Given the description of an element on the screen output the (x, y) to click on. 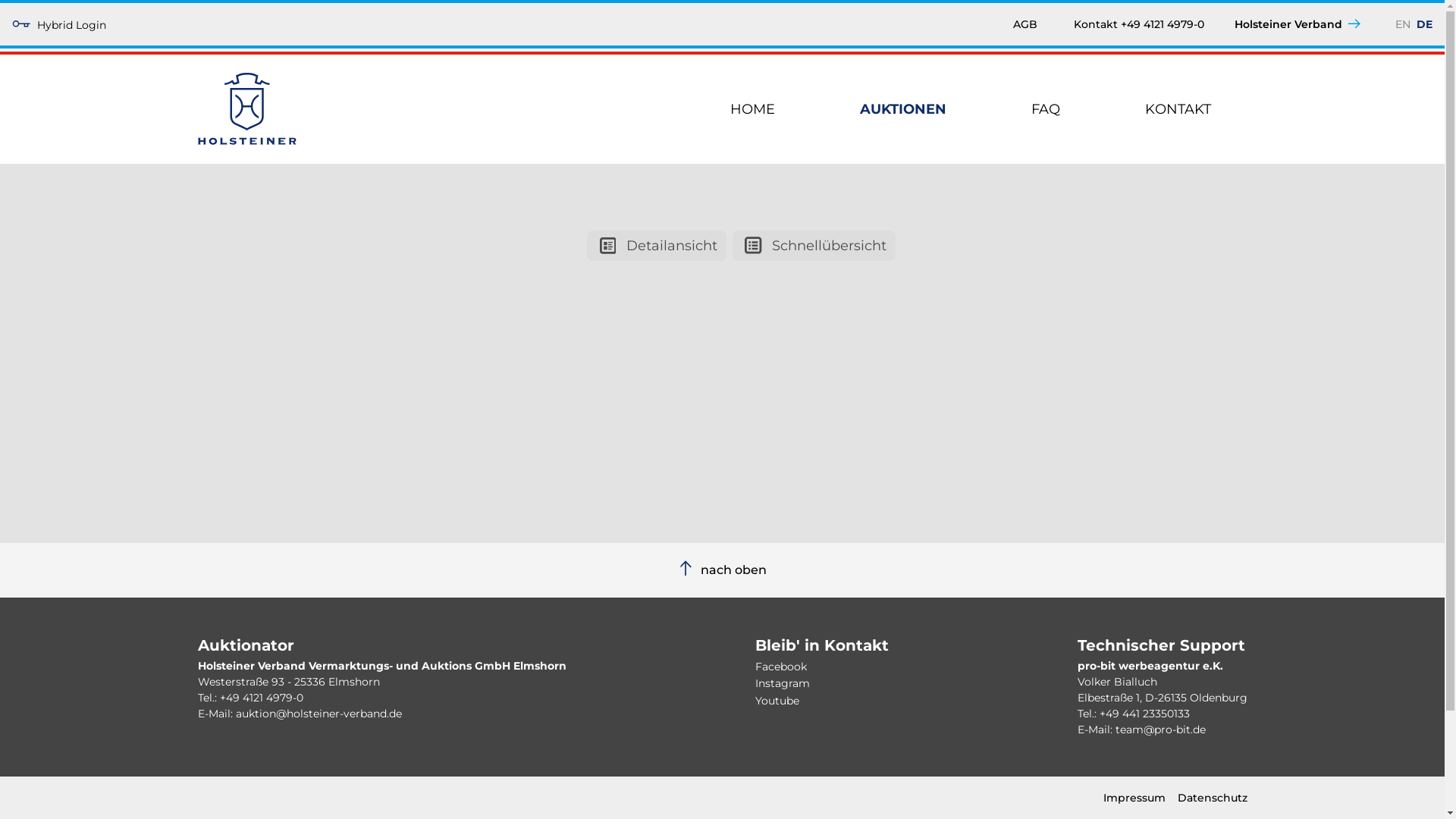
EN Element type: text (1402, 24)
Holsteiner Verband Element type: text (1299, 24)
Kontakt +49 4121 4979-0 Element type: text (1138, 24)
Hybrid Login Element type: text (59, 24)
AUKTIONEN Element type: text (902, 108)
auktion@holsteiner-verband.de Element type: text (318, 713)
Instagram Element type: text (782, 683)
AGB Element type: text (1025, 24)
+49 441 23350133 Element type: text (1144, 713)
Youtube Element type: text (777, 700)
Datenschutz Element type: text (1211, 797)
Facebook Element type: text (780, 666)
+49 4121 4979-0 Element type: text (261, 697)
DE Element type: text (1424, 24)
FAQ Element type: text (1045, 108)
nach oben Element type: text (721, 570)
Impressum Element type: text (1133, 797)
HOME Element type: text (751, 108)
team@pro-bit.de Element type: text (1159, 729)
KONTAKT Element type: text (1177, 108)
